Given the description of an element on the screen output the (x, y) to click on. 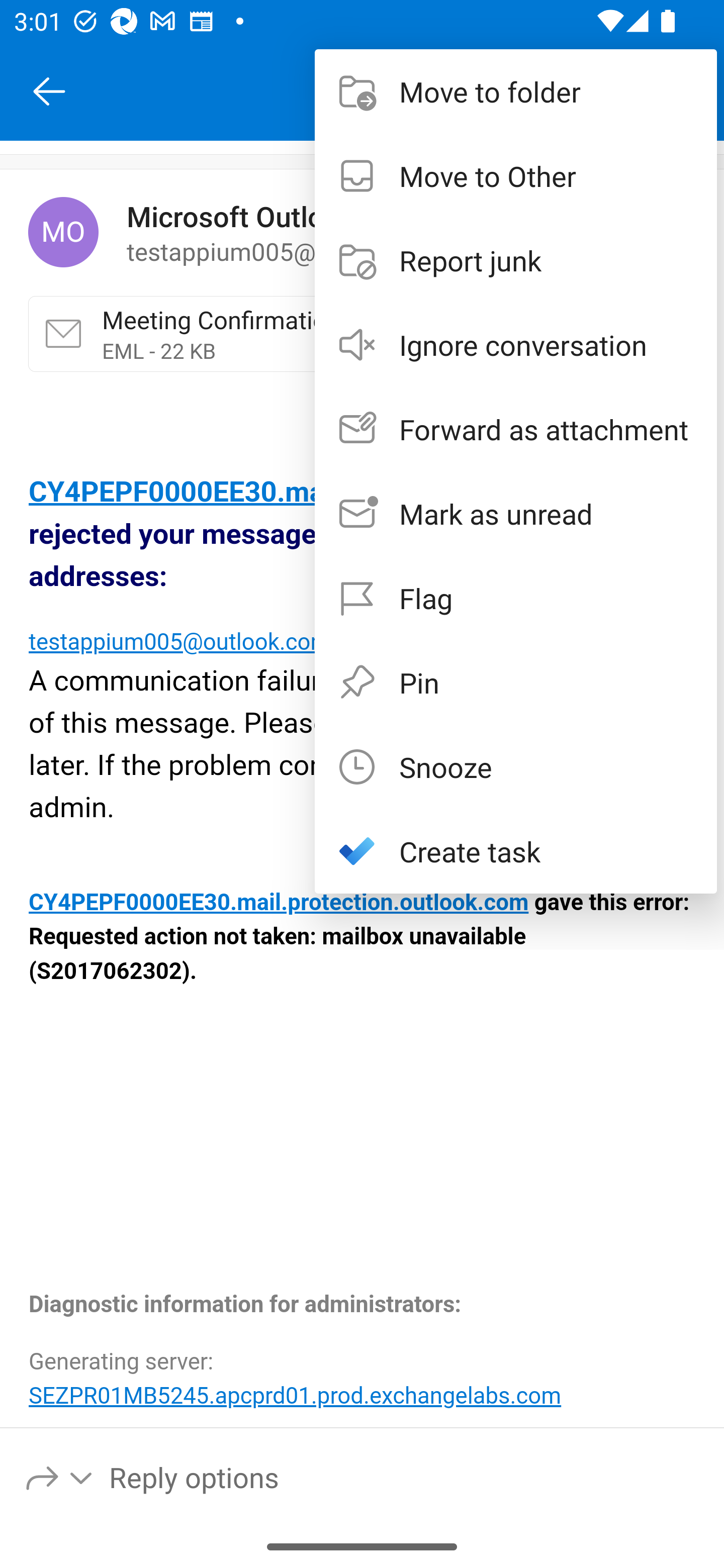
Move to folder (515, 90)
Move to Other (515, 175)
Report junk (515, 259)
Ignore conversation (515, 344)
Forward as attachment (515, 429)
Mark as unread (515, 513)
Flag (515, 597)
Pin (515, 681)
Snooze (515, 766)
Create task (515, 851)
